Given the description of an element on the screen output the (x, y) to click on. 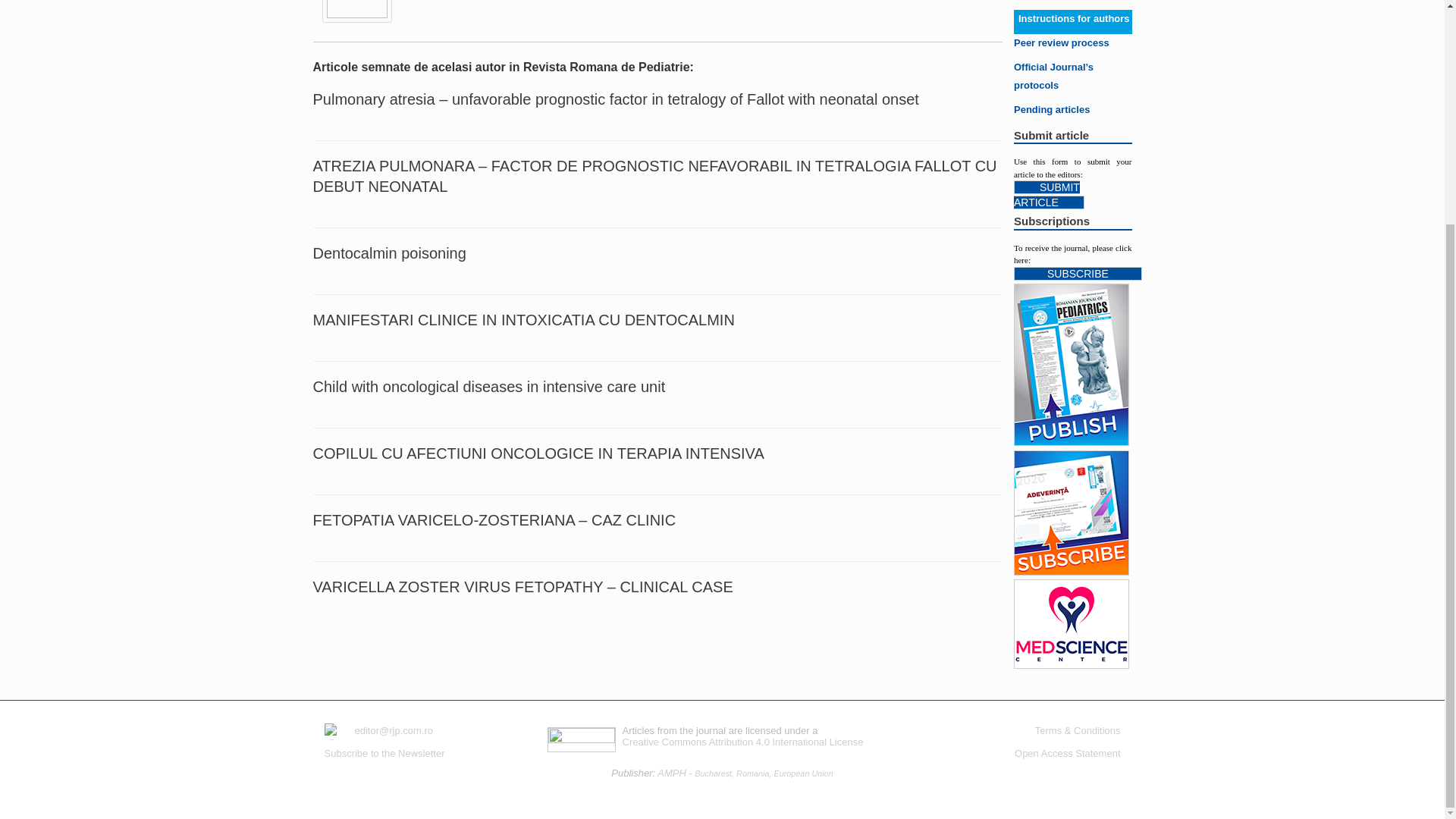
N. Nistor (356, 19)
Permalink to Dentocalmin poisoning (389, 252)
